Given the description of an element on the screen output the (x, y) to click on. 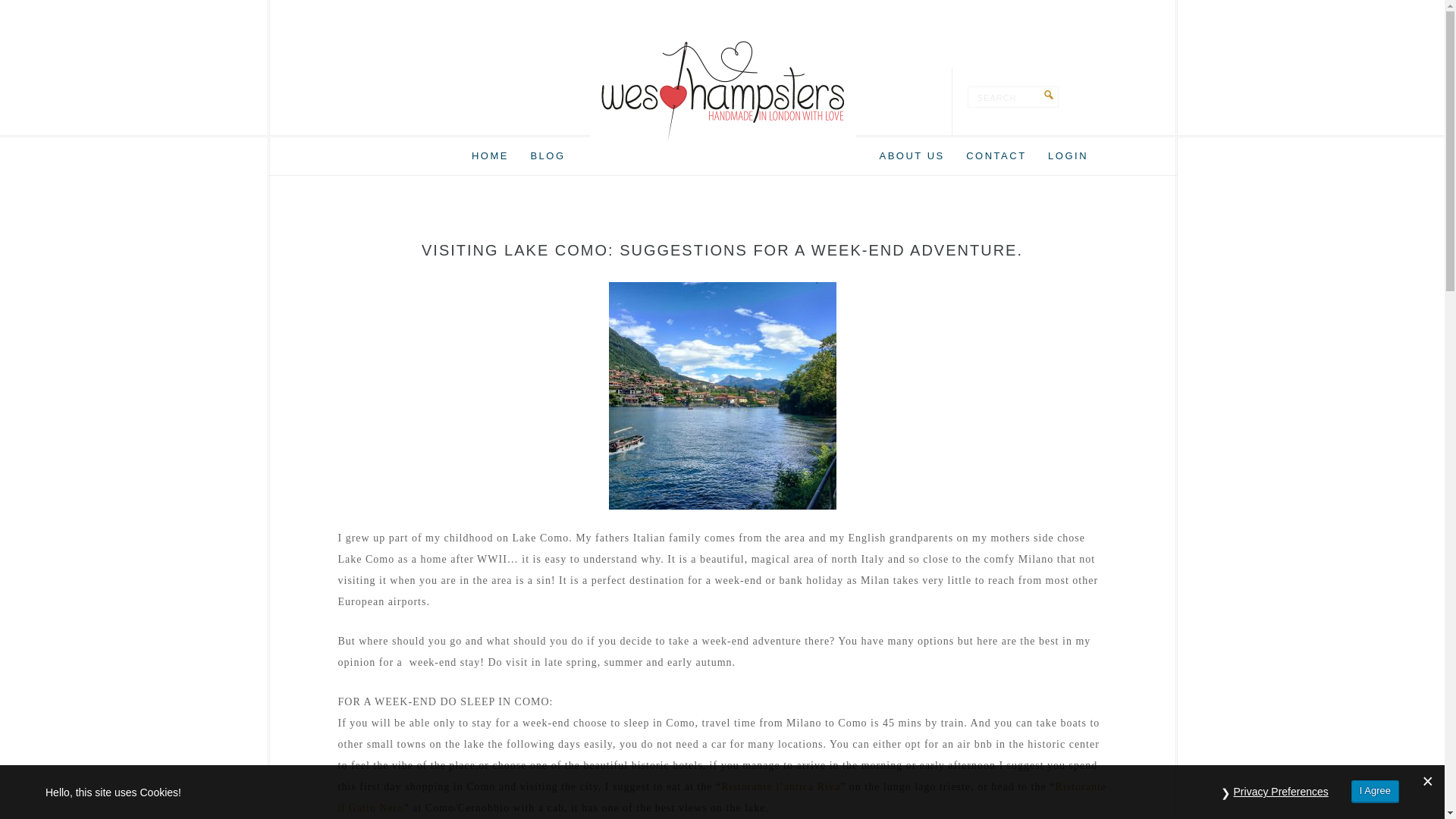
LOGIN (1068, 156)
BLOG (547, 156)
ABOUT US (911, 156)
HOME (490, 156)
VISITING LAKE COMO: SUGGESTIONS FOR A WEEK-END ADVENTURE. (722, 249)
WESTHAMPSTERS (722, 91)
CONTACT (995, 156)
Ristorante il Gatto Nero (721, 797)
